Given the description of an element on the screen output the (x, y) to click on. 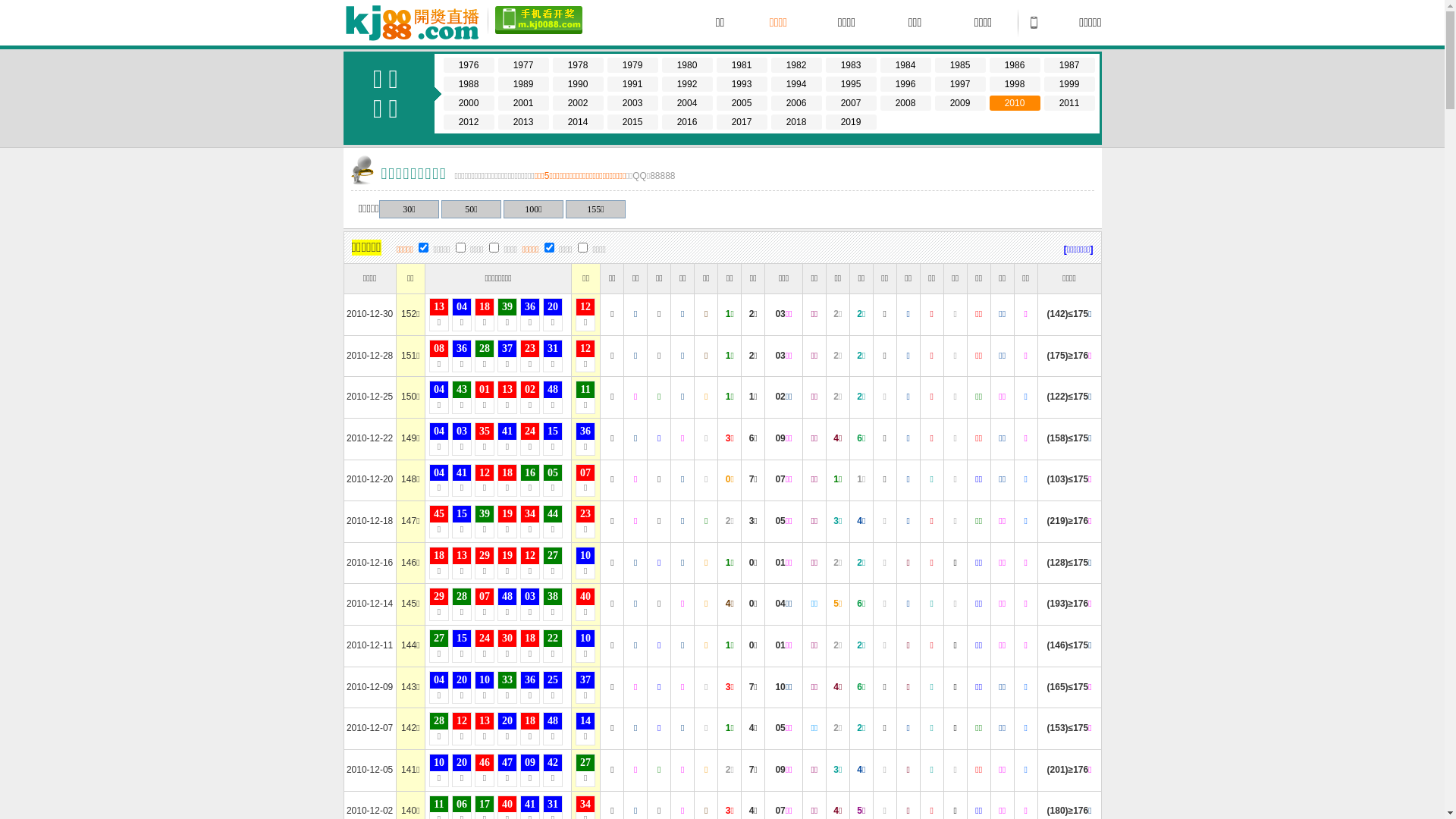
1979 Element type: text (631, 64)
2003 Element type: text (631, 102)
1992 Element type: text (686, 83)
2014 Element type: text (577, 121)
1976 Element type: text (467, 64)
2019 Element type: text (850, 121)
on Element type: text (582, 247)
2004 Element type: text (686, 102)
1987 Element type: text (1068, 64)
2011 Element type: text (1068, 102)
2015 Element type: text (631, 121)
2007 Element type: text (850, 102)
1991 Element type: text (631, 83)
1988 Element type: text (467, 83)
2013 Element type: text (522, 121)
2009 Element type: text (959, 102)
1999 Element type: text (1068, 83)
2012 Element type: text (467, 121)
1978 Element type: text (577, 64)
1981 Element type: text (740, 64)
1977 Element type: text (522, 64)
1983 Element type: text (850, 64)
1986 Element type: text (1013, 64)
1997 Element type: text (959, 83)
1994 Element type: text (795, 83)
1998 Element type: text (1013, 83)
2010 Element type: text (1013, 102)
on Element type: text (460, 247)
2006 Element type: text (795, 102)
1996 Element type: text (904, 83)
1982 Element type: text (795, 64)
1985 Element type: text (959, 64)
1990 Element type: text (577, 83)
2002 Element type: text (577, 102)
2001 Element type: text (522, 102)
1995 Element type: text (850, 83)
1993 Element type: text (740, 83)
1984 Element type: text (904, 64)
2018 Element type: text (795, 121)
on Element type: text (493, 247)
2017 Element type: text (740, 121)
2016 Element type: text (686, 121)
1980 Element type: text (686, 64)
2000 Element type: text (467, 102)
1989 Element type: text (522, 83)
on Element type: text (423, 247)
on Element type: text (549, 247)
2005 Element type: text (740, 102)
2008 Element type: text (904, 102)
